Given the description of an element on the screen output the (x, y) to click on. 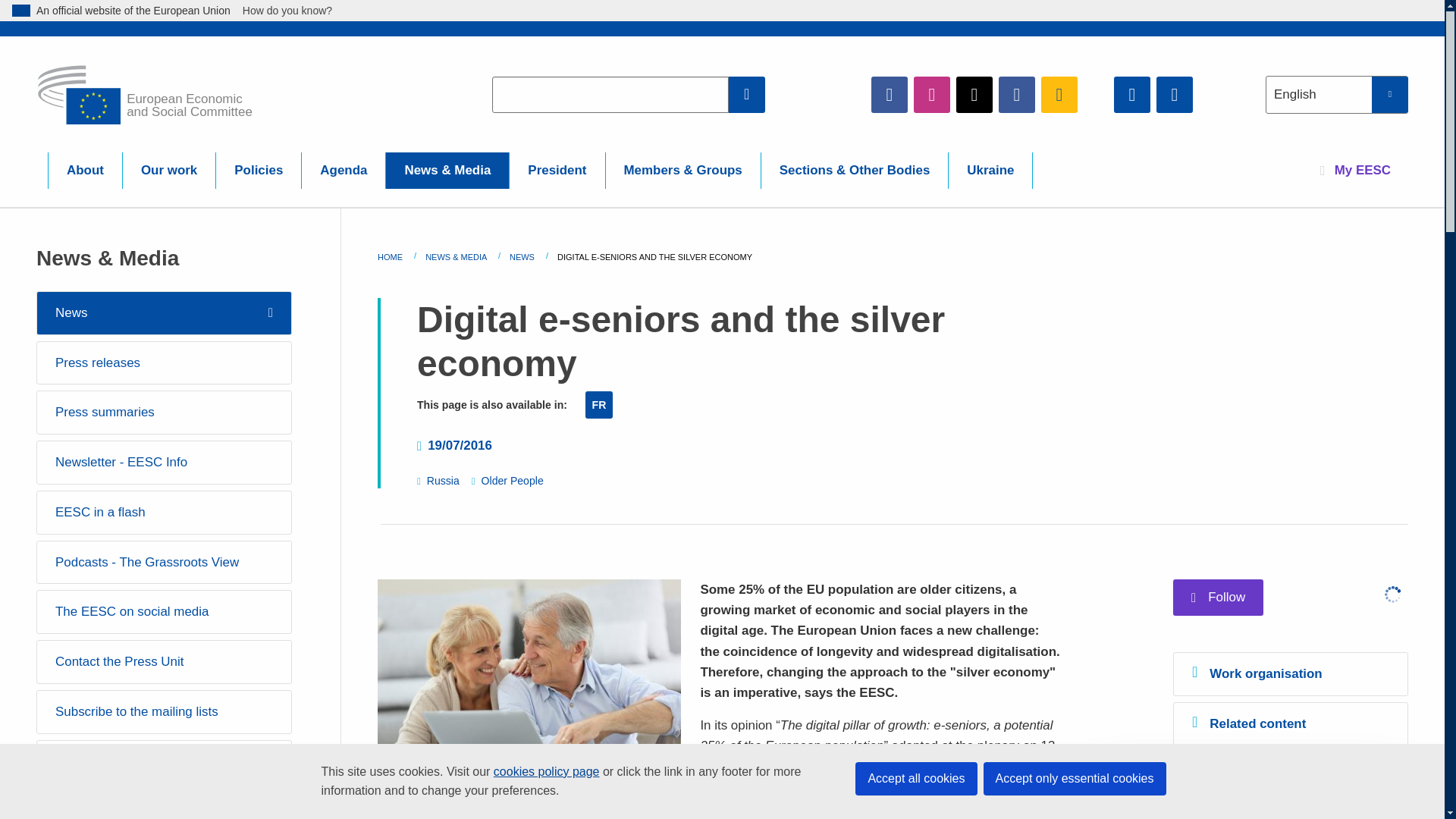
My EESC (1355, 170)
Search EESC Website (747, 94)
Accept all cookies (916, 778)
Accept only essential cookies (1074, 778)
cookies policy page (546, 771)
How do you know? (295, 10)
